Given the description of an element on the screen output the (x, y) to click on. 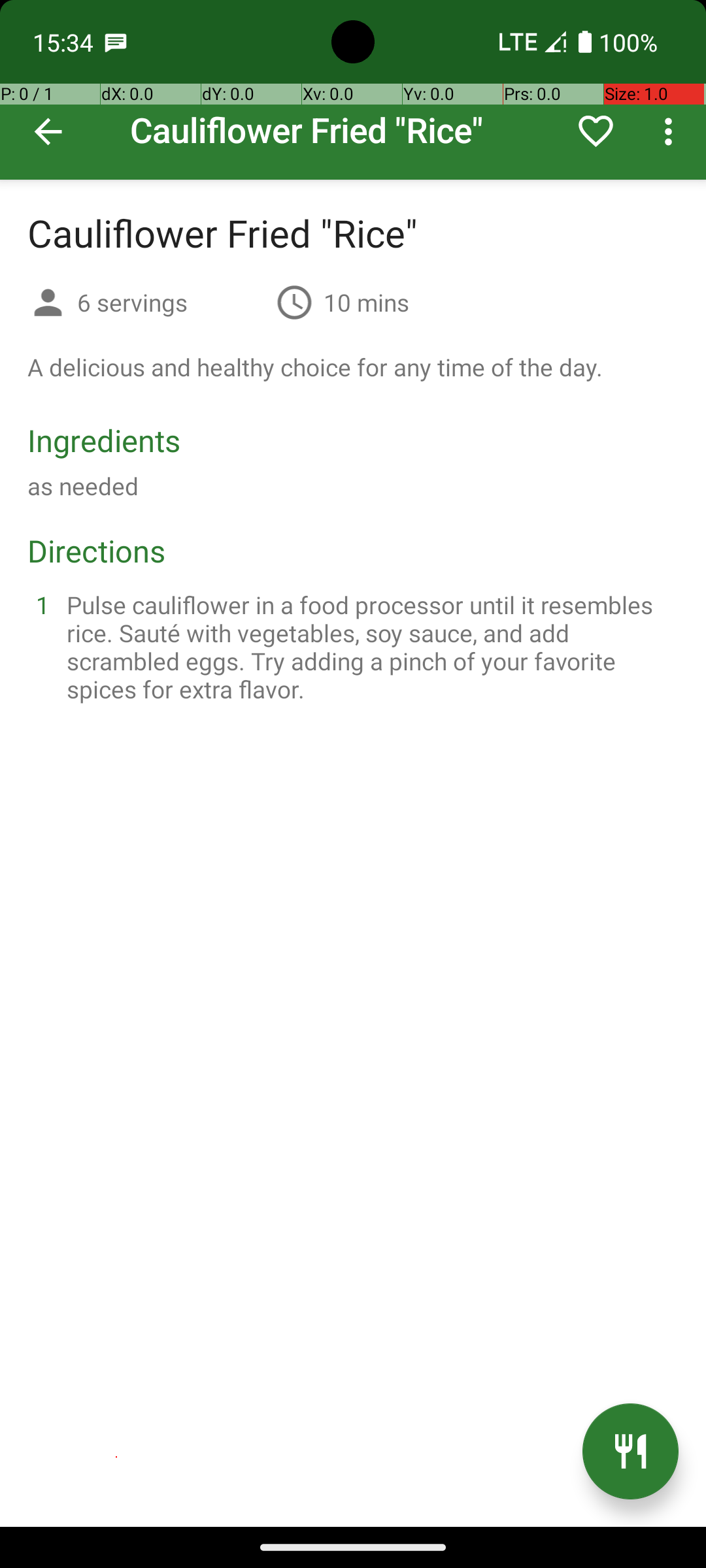
Pulse cauliflower in a food processor until it resembles rice. Sauté with vegetables, soy sauce, and add scrambled eggs. Try adding a pinch of your favorite spices for extra flavor. Element type: android.widget.TextView (368, 646)
